Given the description of an element on the screen output the (x, y) to click on. 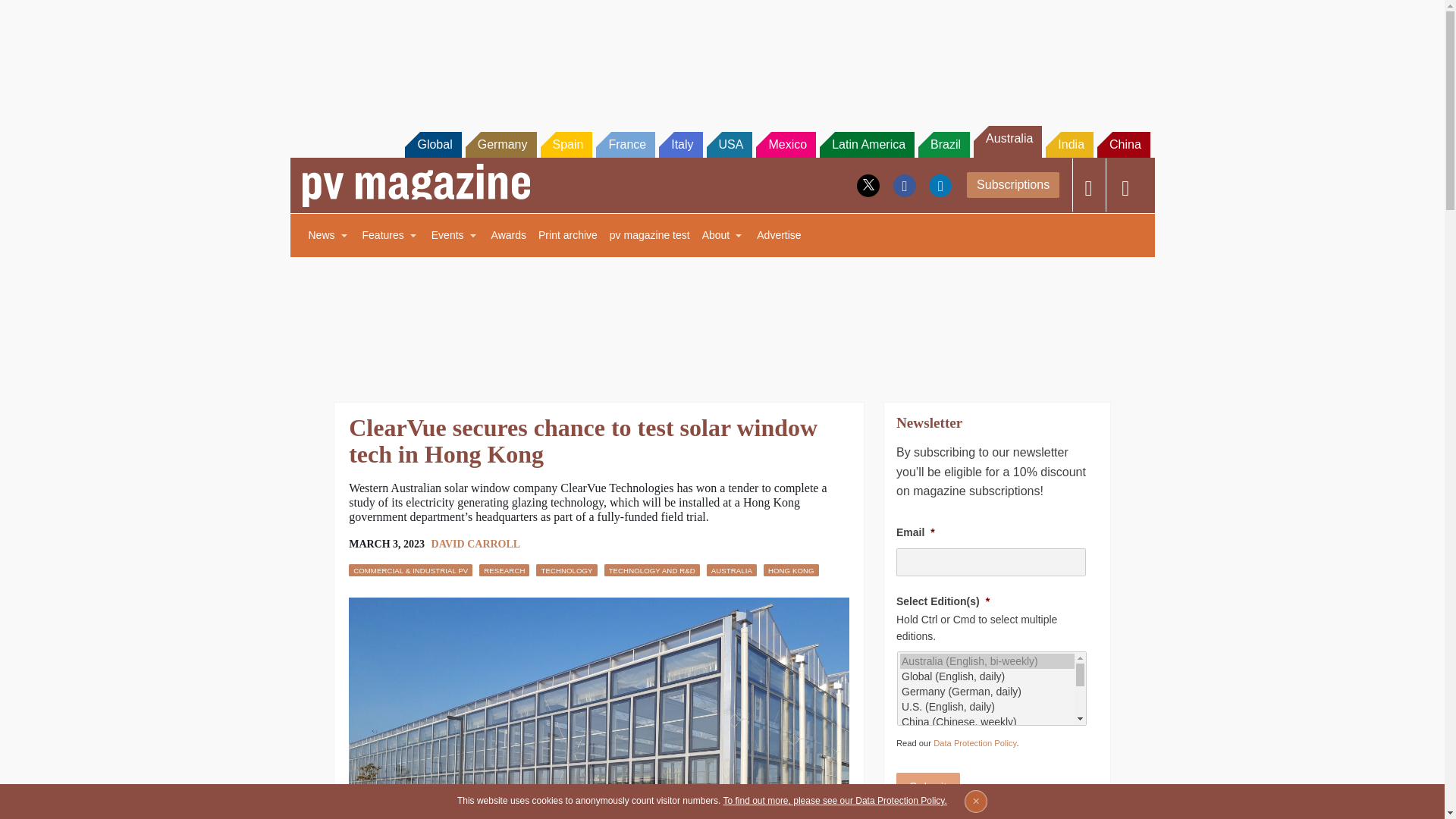
pv magazine - Photovoltaics Markets and Technology (415, 185)
China (1123, 144)
Latin America (866, 144)
Global (432, 144)
Germany (501, 144)
Search (32, 15)
Brazil (943, 144)
Subscriptions (1012, 184)
France (625, 144)
India (1069, 144)
Friday, March 3, 2023, 10:20 am (387, 544)
Posts by David Carroll (475, 543)
Spain (566, 144)
USA (729, 144)
Mexico (785, 144)
